Given the description of an element on the screen output the (x, y) to click on. 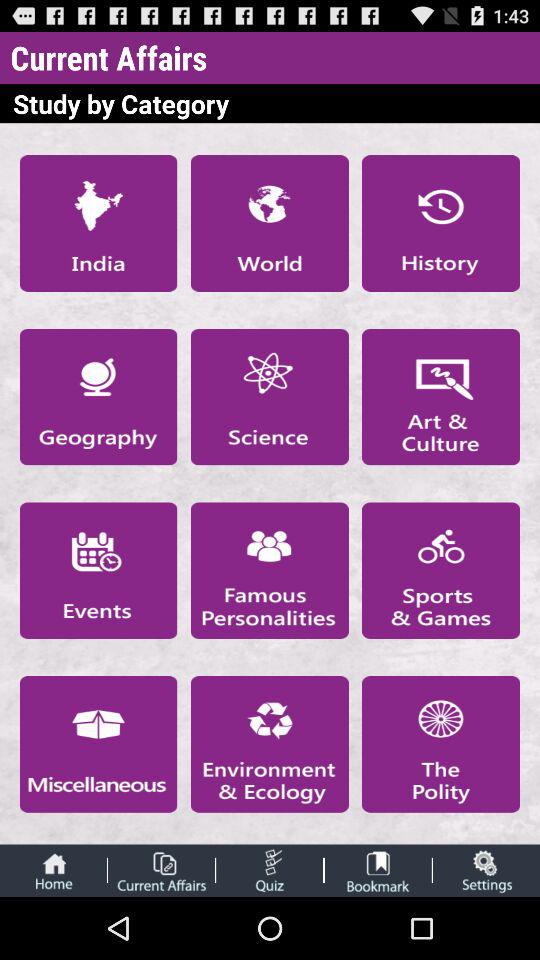
current affairs button (161, 870)
